Given the description of an element on the screen output the (x, y) to click on. 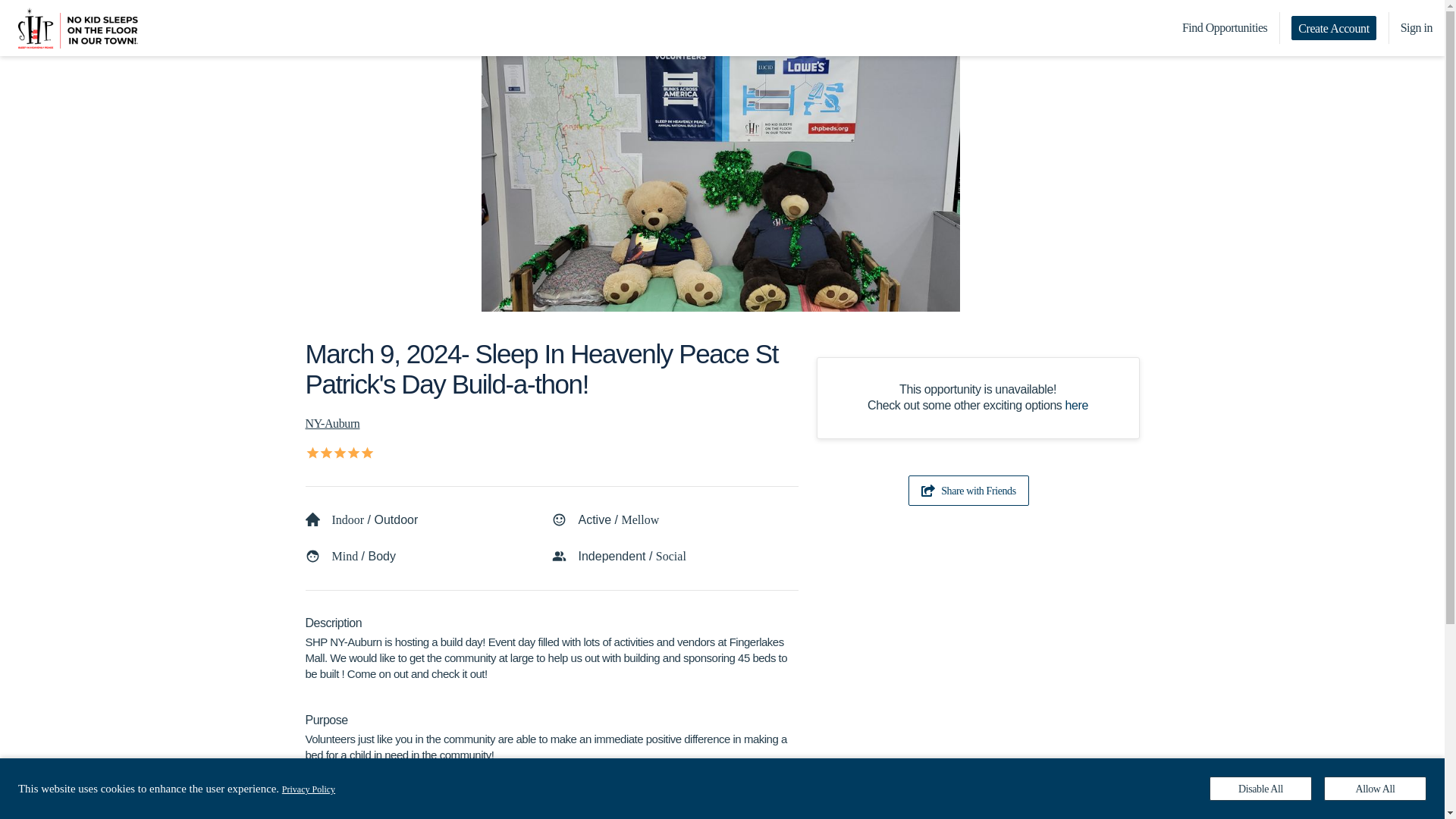
Find Opportunities (1224, 28)
Rating: 5.0 (336, 452)
Allow All (1374, 788)
here (1076, 404)
Privacy Policy (308, 788)
Share with Friends (968, 490)
Create Account (1333, 27)
Disable All (1260, 788)
